Given the description of an element on the screen output the (x, y) to click on. 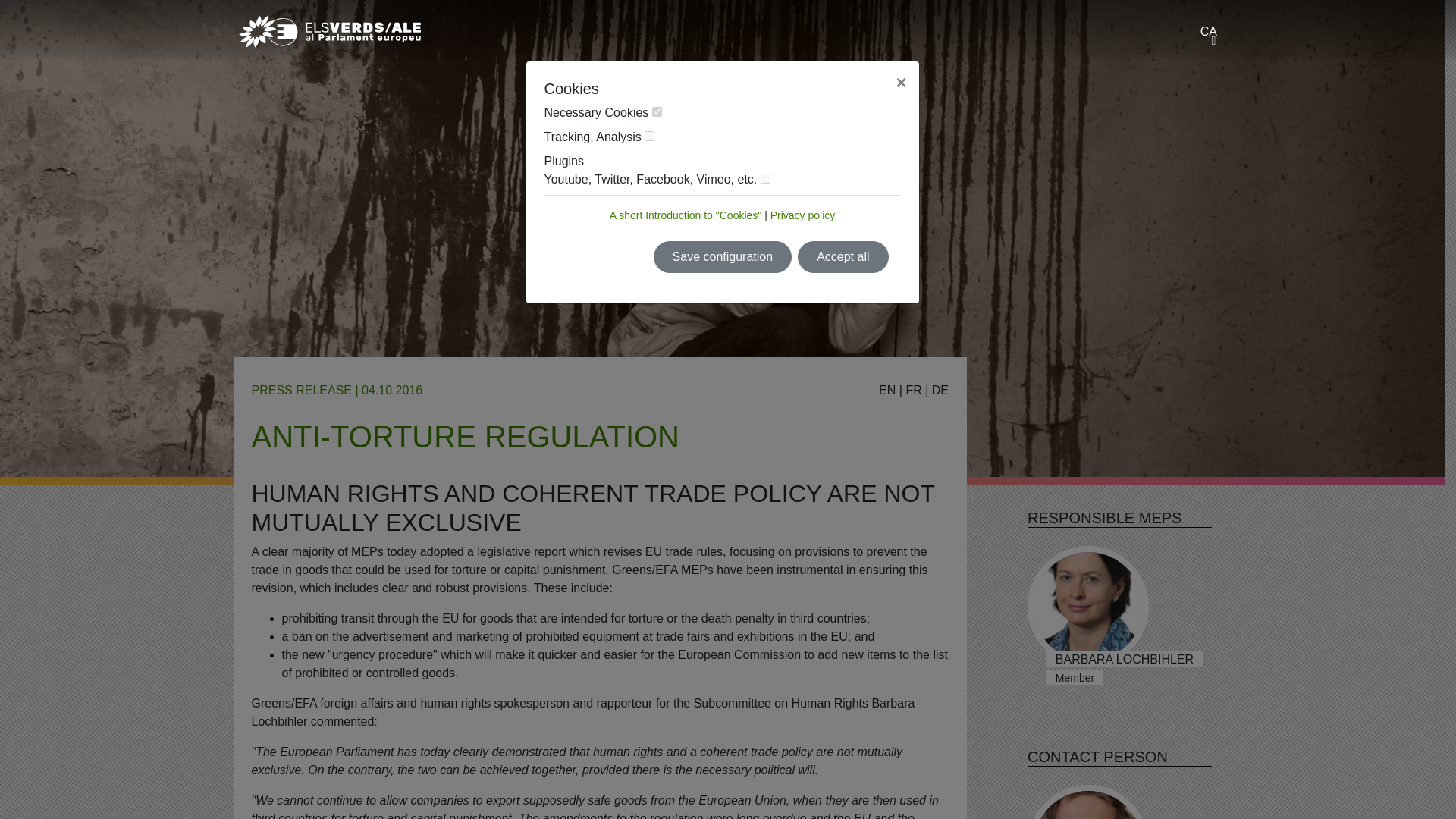
Save configuration (722, 256)
DE (940, 390)
David Weir (1087, 801)
1 (657, 112)
Privacy policy (802, 215)
EN (887, 390)
2 (649, 135)
Barbara Lochbihler (1087, 606)
A short Introduction to "Cookies" (685, 215)
